Given the description of an element on the screen output the (x, y) to click on. 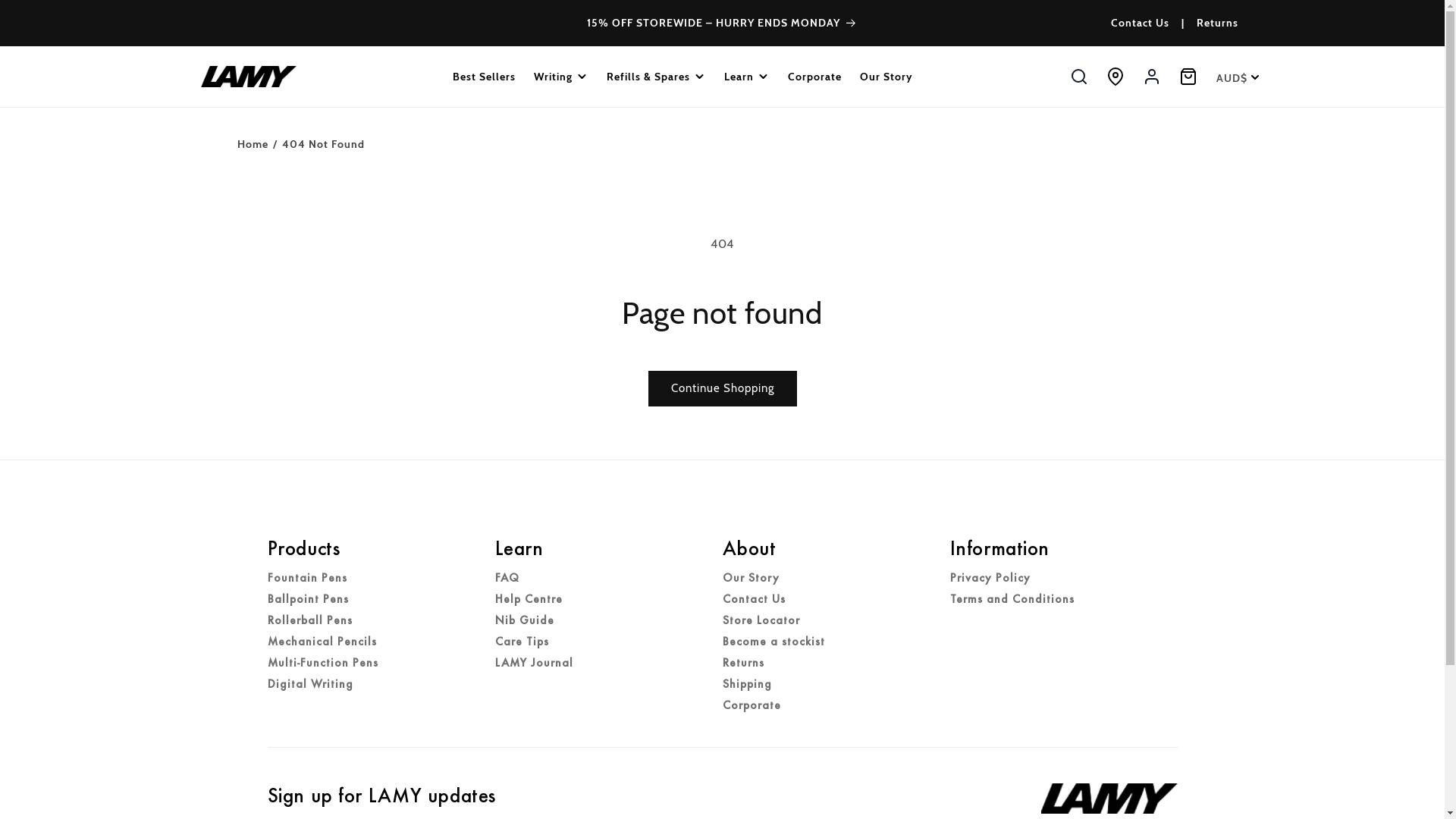
Care Tips Element type: text (521, 641)
Our Story Element type: text (749, 577)
Multi-Function Pens Element type: text (321, 662)
Contact Us Element type: text (1139, 22)
Mechanical Pencils Element type: text (321, 641)
Fountain Pens Element type: text (306, 577)
Our Story Element type: text (886, 76)
Home Element type: text (251, 143)
Shipping Element type: text (746, 683)
Terms and Conditions Element type: text (1011, 599)
Contact Us Element type: text (752, 599)
Returns Element type: text (742, 662)
Digital Writing Element type: text (309, 683)
Become a stockist Element type: text (772, 641)
Corporate Element type: text (814, 76)
Corporate Element type: text (750, 705)
Nib Guide Element type: text (523, 620)
Best Sellers Element type: text (483, 76)
Ballpoint Pens Element type: text (307, 599)
LAMY Journal Element type: text (533, 662)
Store Locator Element type: text (760, 620)
FAQ Element type: text (506, 577)
Rollerball Pens Element type: text (308, 620)
Returns Element type: text (1217, 22)
Privacy Policy Element type: text (989, 577)
Cart Element type: text (1187, 76)
Help Centre Element type: text (527, 599)
Continue Shopping Element type: text (721, 388)
Log in Element type: text (1151, 76)
